Given the description of an element on the screen output the (x, y) to click on. 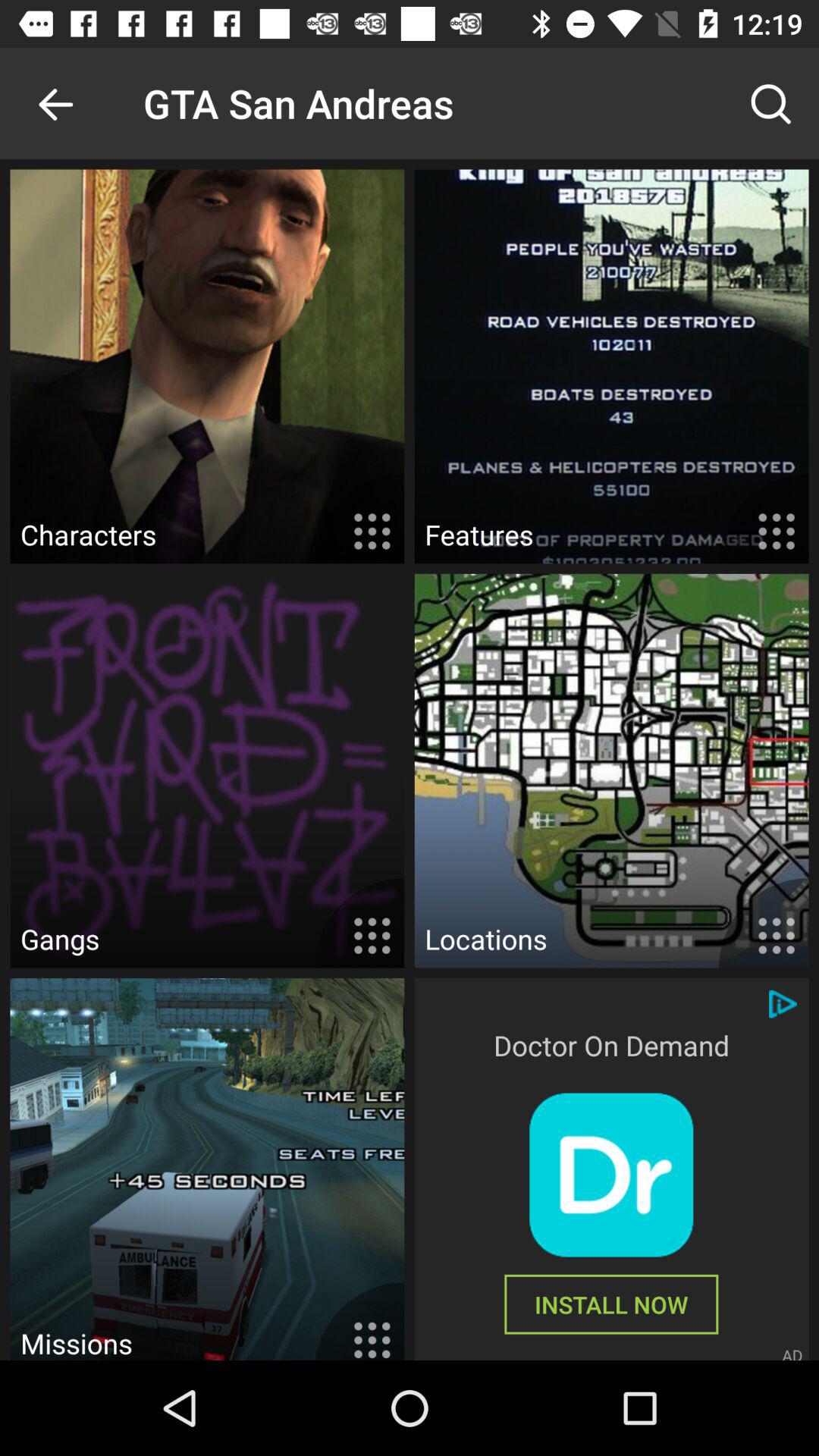
press item next to the gta san andreas icon (55, 103)
